Given the description of an element on the screen output the (x, y) to click on. 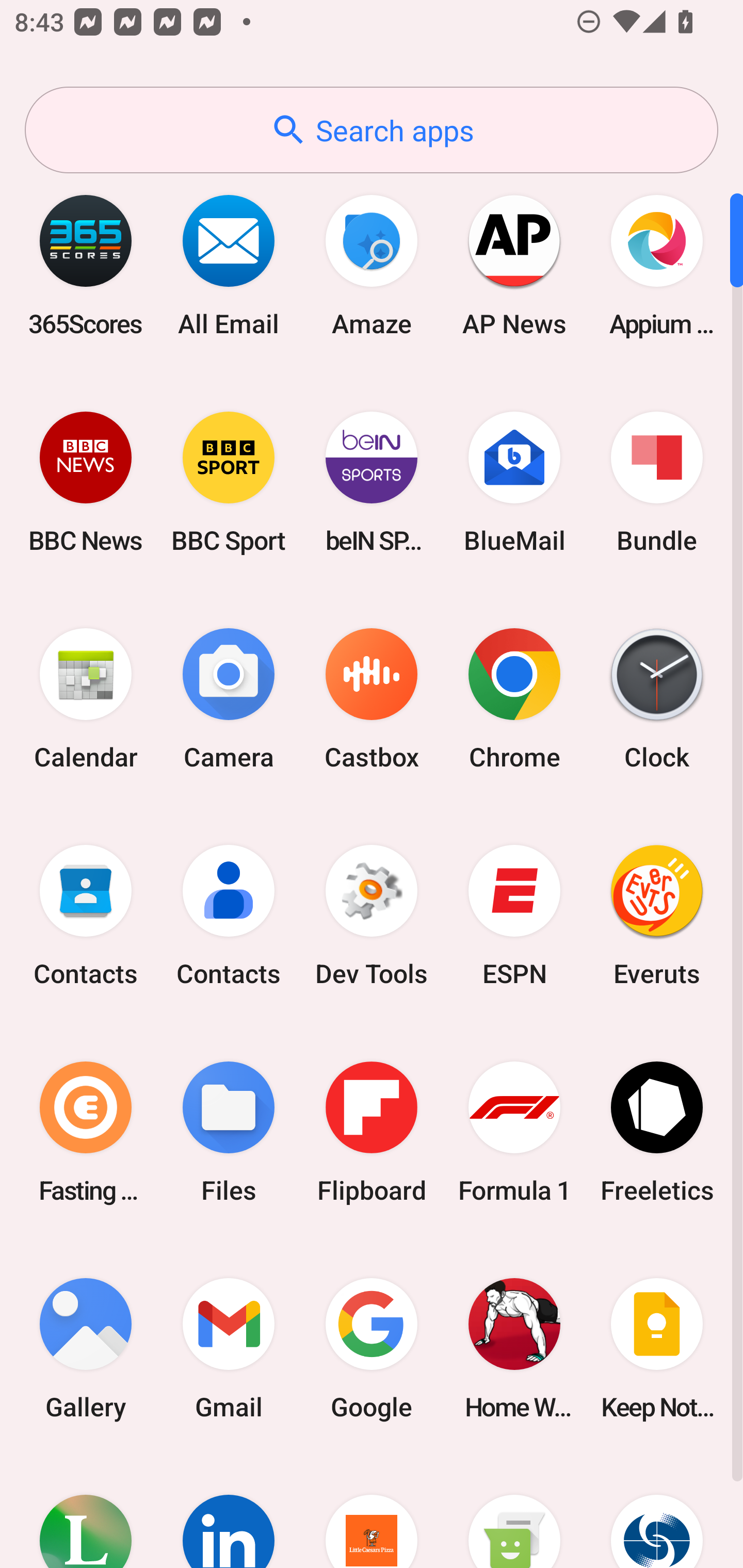
  Search apps (371, 130)
365Scores (85, 264)
All Email (228, 264)
Amaze (371, 264)
AP News (514, 264)
Appium Settings (656, 264)
BBC News (85, 482)
BBC Sport (228, 482)
beIN SPORTS (371, 482)
BlueMail (514, 482)
Bundle (656, 482)
Calendar (85, 699)
Camera (228, 699)
Castbox (371, 699)
Chrome (514, 699)
Clock (656, 699)
Contacts (85, 915)
Contacts (228, 915)
Dev Tools (371, 915)
ESPN (514, 915)
Everuts (656, 915)
Fasting Coach (85, 1131)
Files (228, 1131)
Flipboard (371, 1131)
Formula 1 (514, 1131)
Freeletics (656, 1131)
Gallery (85, 1348)
Gmail (228, 1348)
Google (371, 1348)
Home Workout (514, 1348)
Keep Notes (656, 1348)
